Given the description of an element on the screen output the (x, y) to click on. 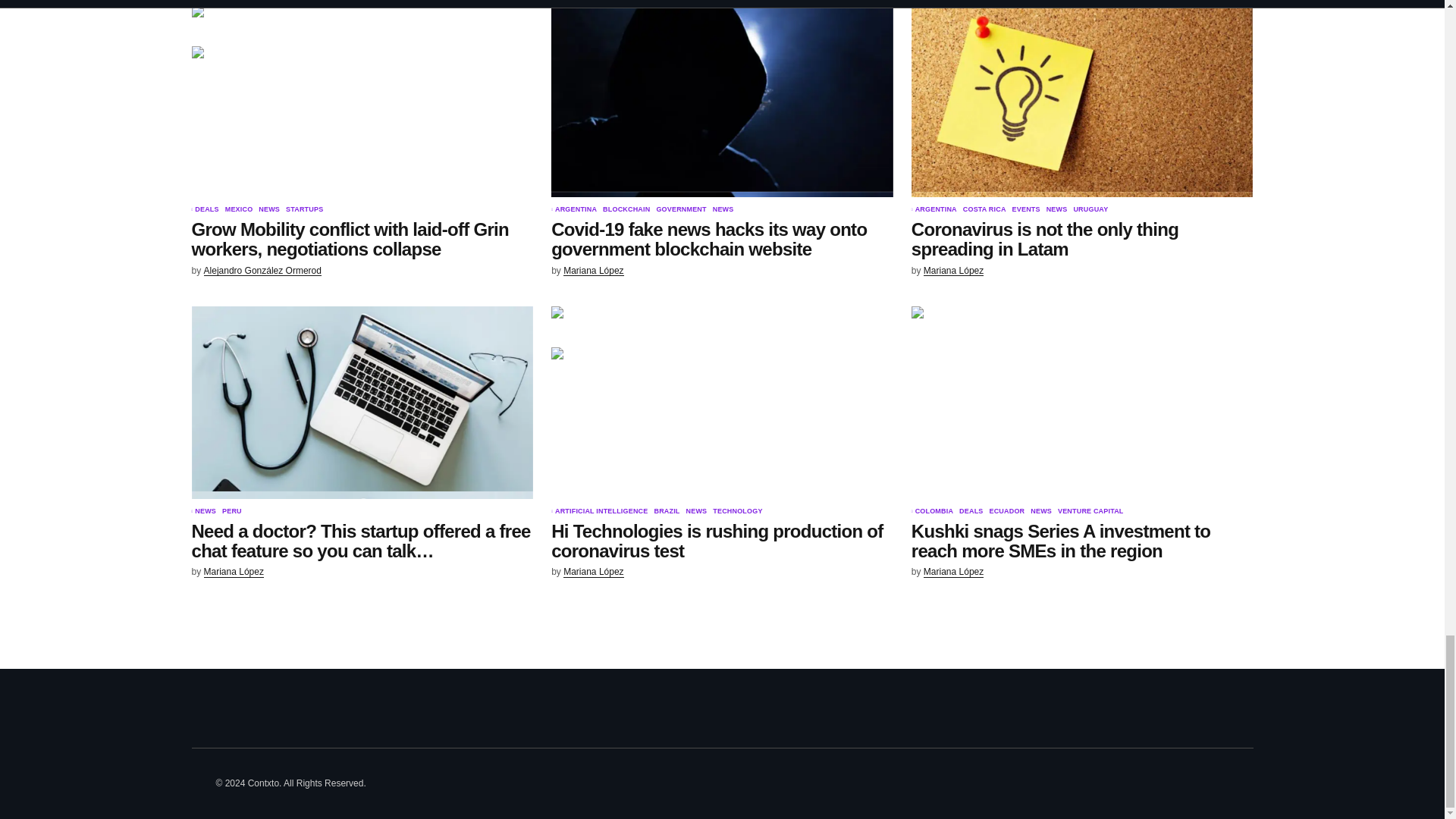
Hi Technologies is rushing production of coronavirus test (722, 402)
Coronavirus is not the only thing spreading in Latam (1082, 100)
